Given the description of an element on the screen output the (x, y) to click on. 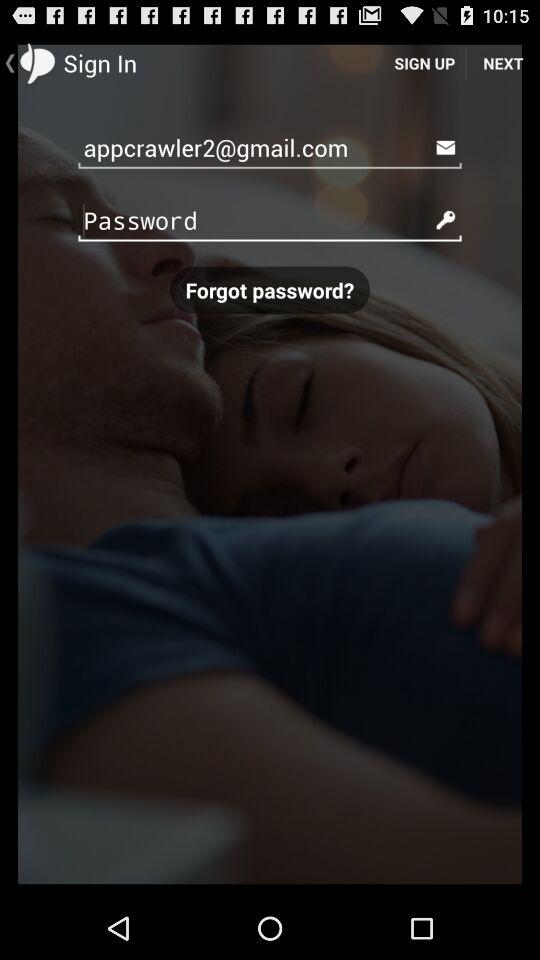
flip to the next item (503, 62)
